Given the description of an element on the screen output the (x, y) to click on. 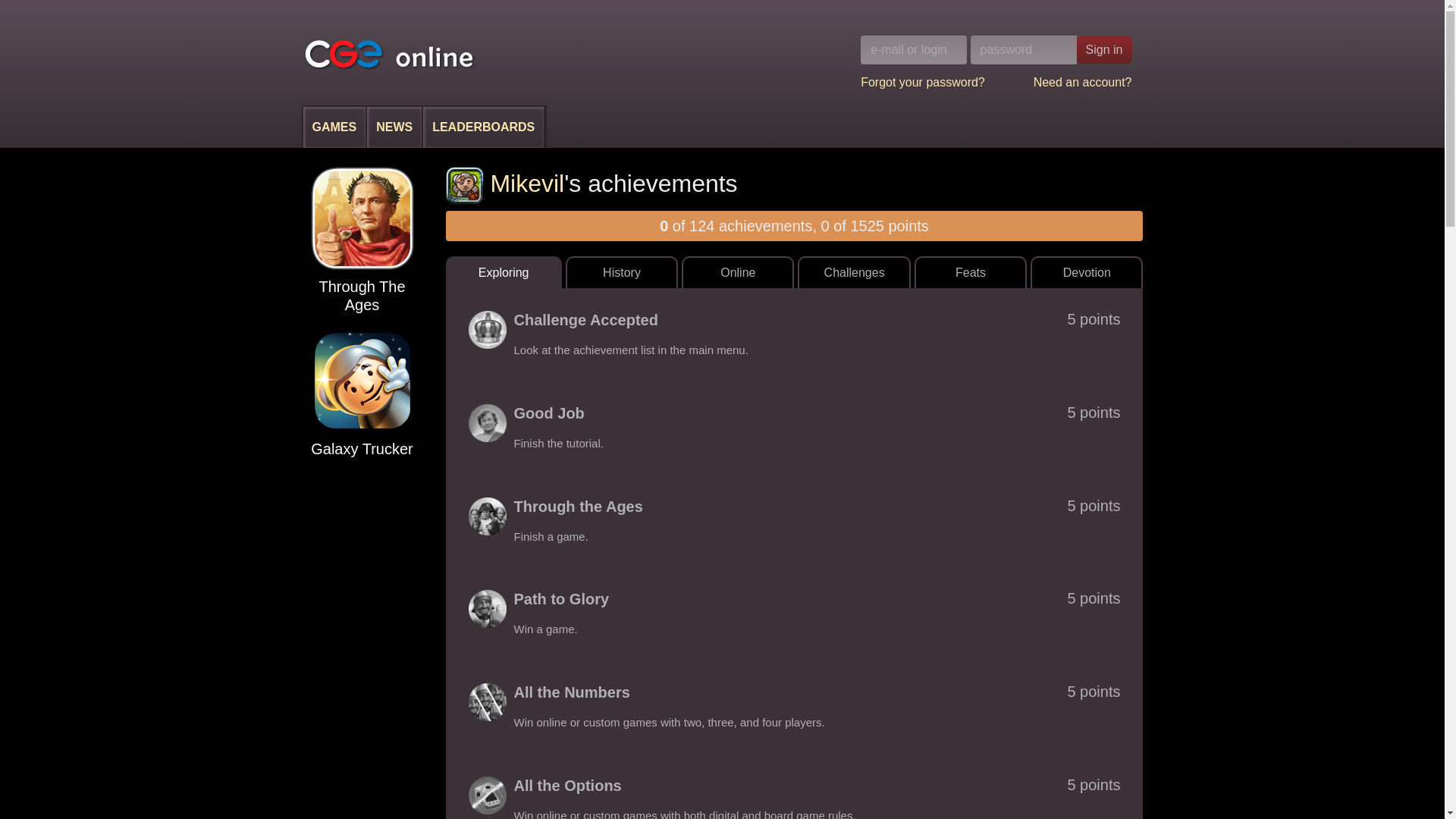
History (622, 272)
LEADERBOARDS (483, 127)
NEWS (394, 127)
GAMES (335, 127)
Online (737, 272)
Exploring (503, 272)
Mikevil (504, 183)
Galaxy Trucker (362, 393)
Sign in (1104, 49)
Feats (970, 272)
